Given the description of an element on the screen output the (x, y) to click on. 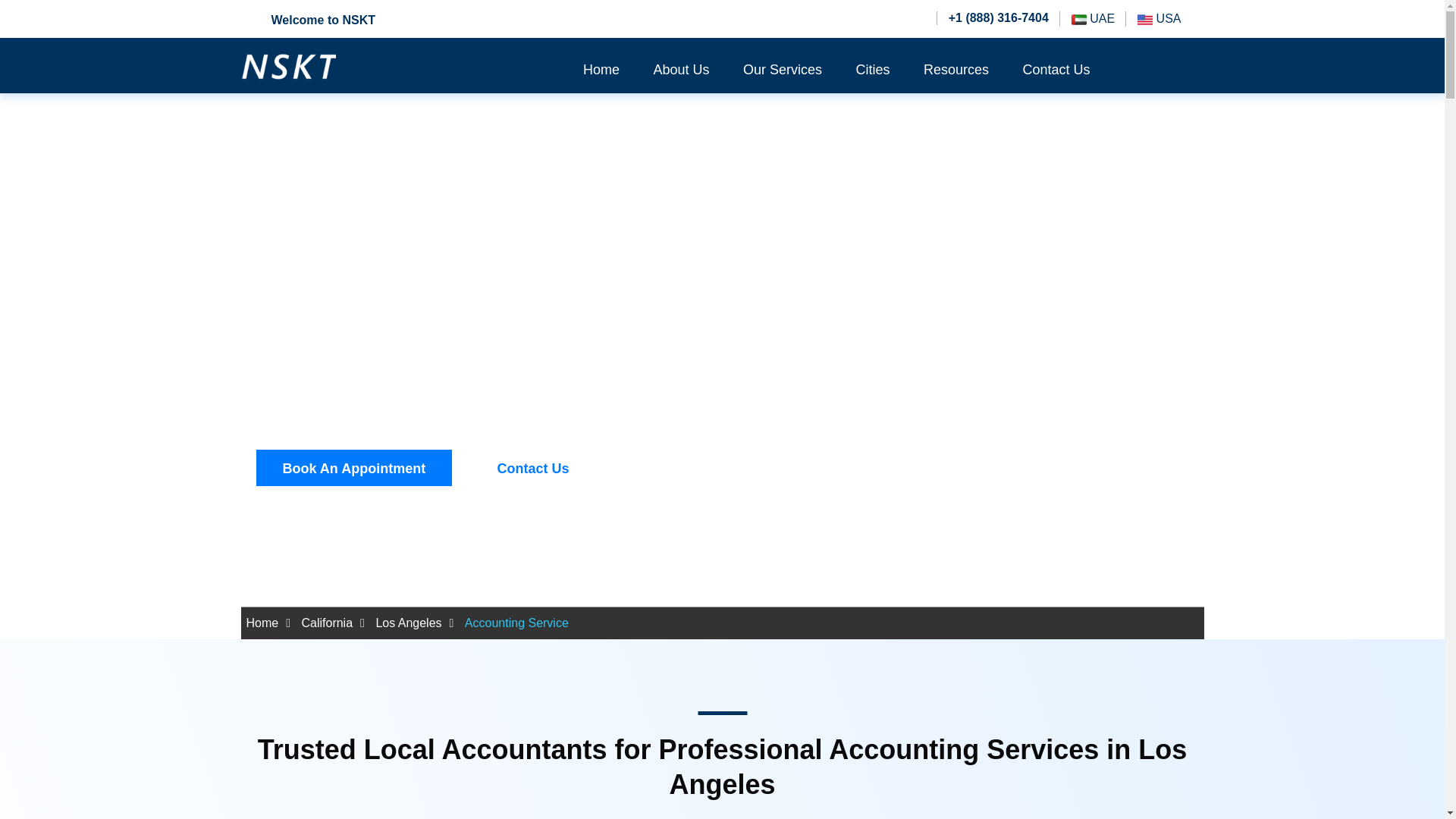
Cities (872, 69)
Home (601, 69)
About Us (681, 69)
USA (1158, 18)
Welcome to NSKT (308, 18)
UAE (1093, 18)
Our Services (782, 69)
